Given the description of an element on the screen output the (x, y) to click on. 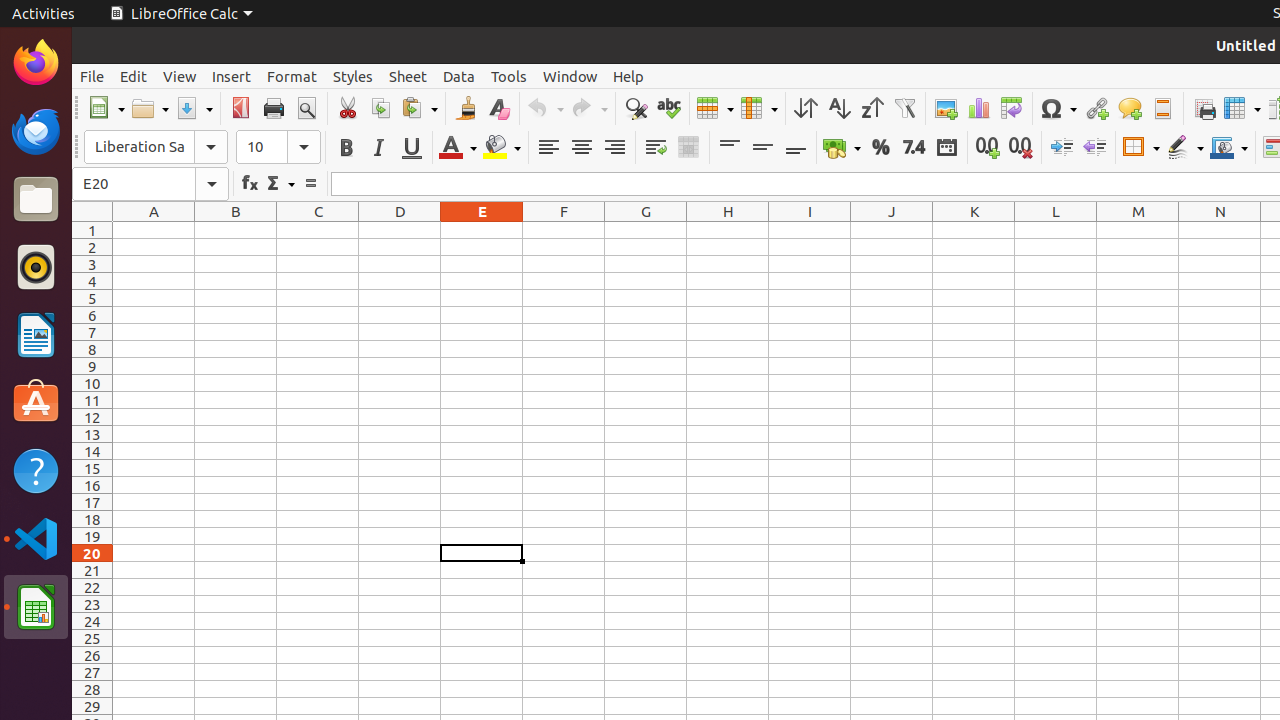
Align Left Element type: push-button (548, 147)
Background Color Element type: push-button (502, 147)
G1 Element type: table-cell (646, 230)
Cut Element type: push-button (347, 108)
Currency Element type: push-button (842, 147)
